Given the description of an element on the screen output the (x, y) to click on. 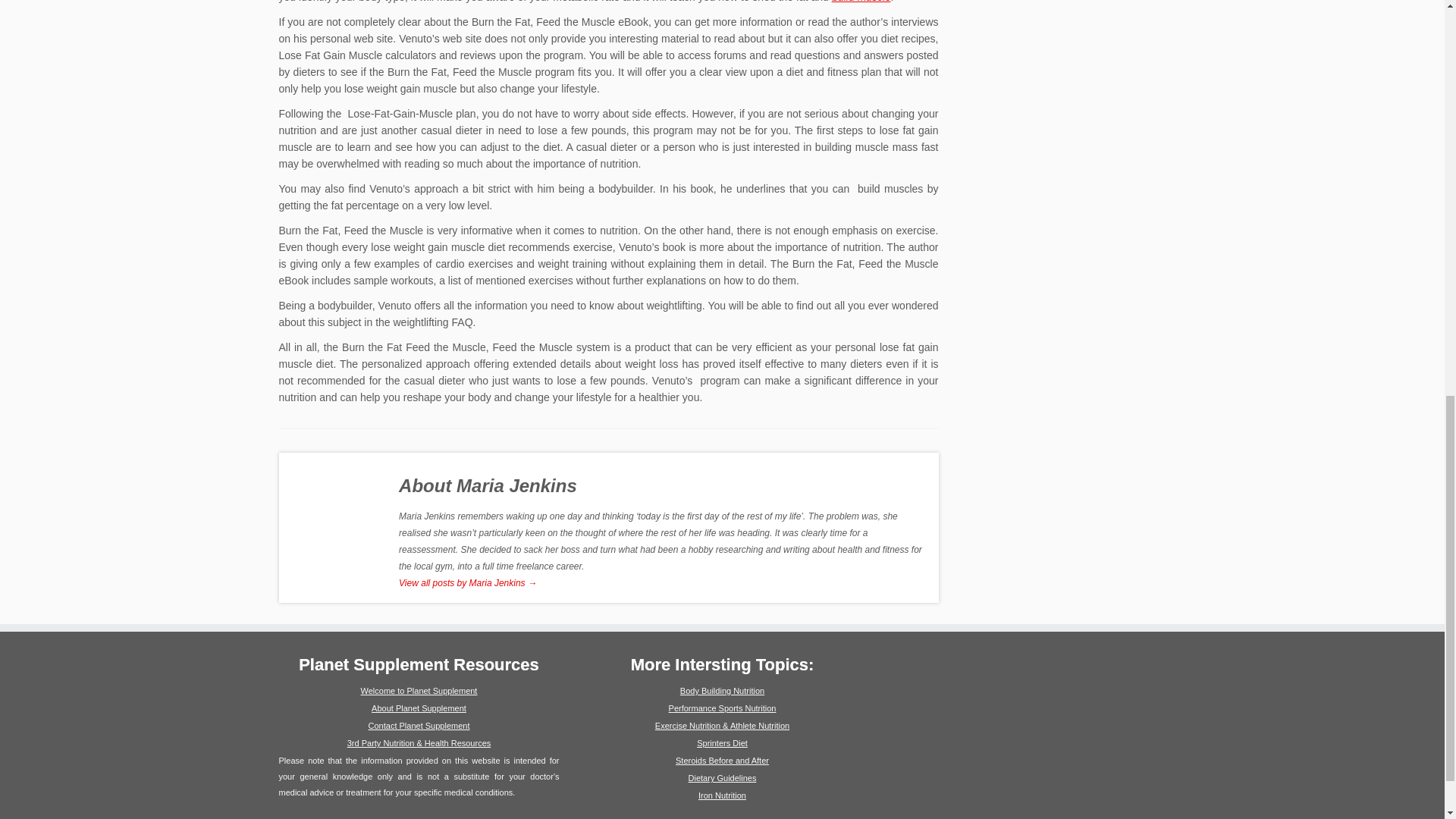
Sprinters Diet (722, 742)
Performance Sports Nutrition (722, 707)
build muscle (861, 1)
Dietary Guidelines (722, 777)
Steroids Before and After (721, 759)
About Planet Supplement (418, 707)
Welcome to Planet Supplement (419, 690)
Iron Nutrition (721, 795)
Contact Planet Supplement (419, 725)
Body Building Nutrition (721, 690)
